Given the description of an element on the screen output the (x, y) to click on. 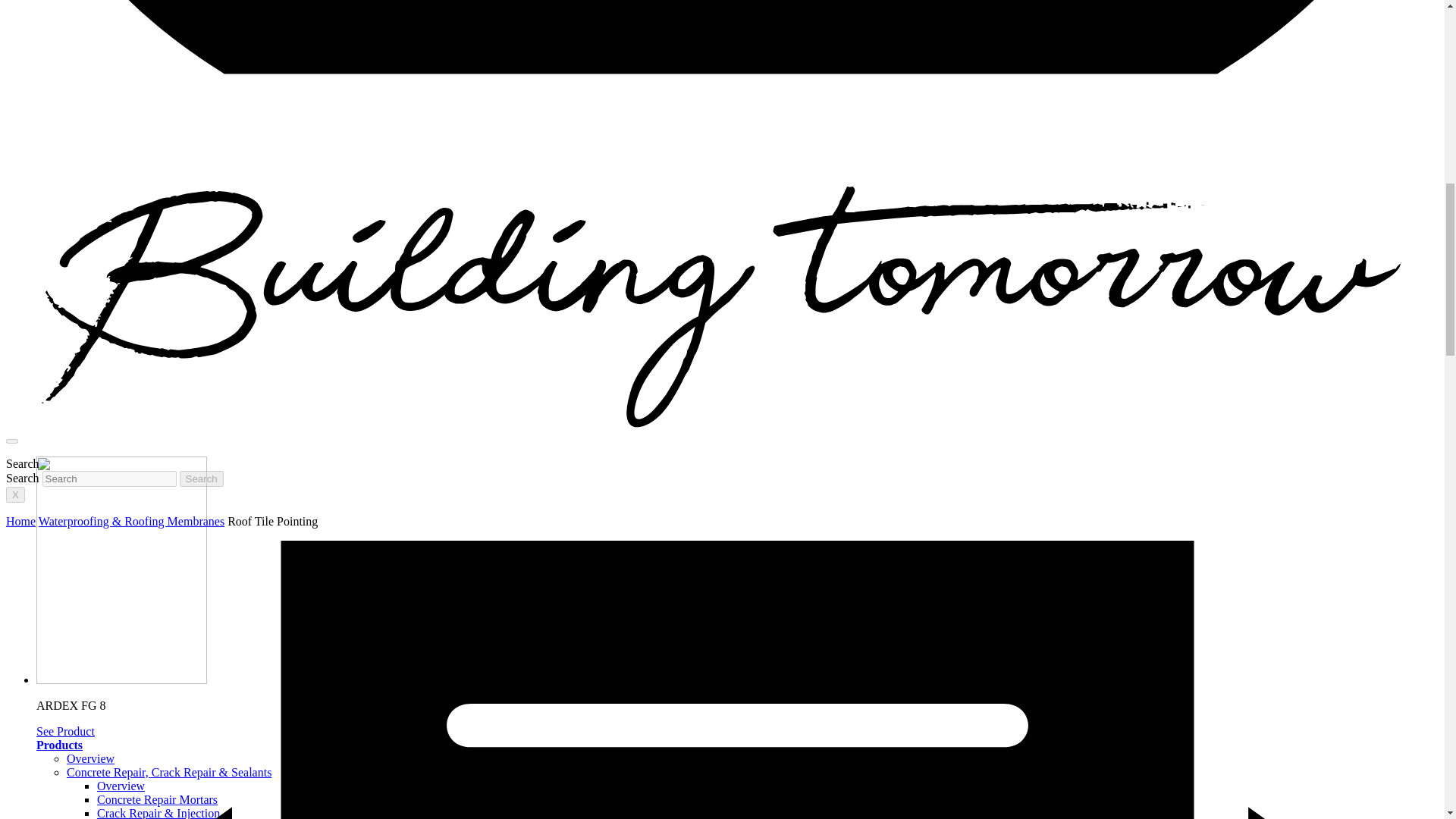
Overview (90, 758)
Overview (120, 785)
Products (59, 744)
Overview (90, 758)
Products (59, 744)
Overview (120, 785)
See Product (65, 730)
Concrete Repair Mortars (156, 799)
Concrete Repair Mortars (156, 799)
